Given the description of an element on the screen output the (x, y) to click on. 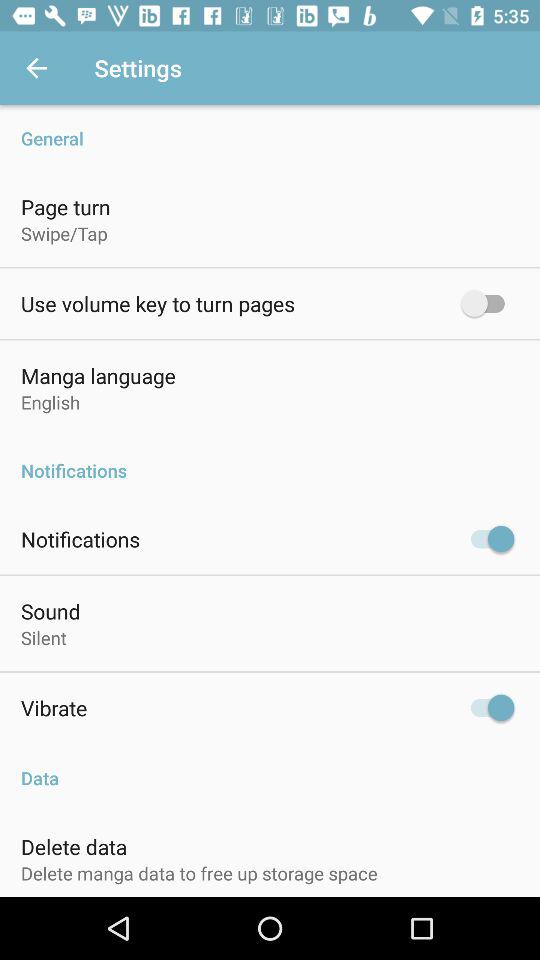
launch item next to the settings icon (36, 68)
